Given the description of an element on the screen output the (x, y) to click on. 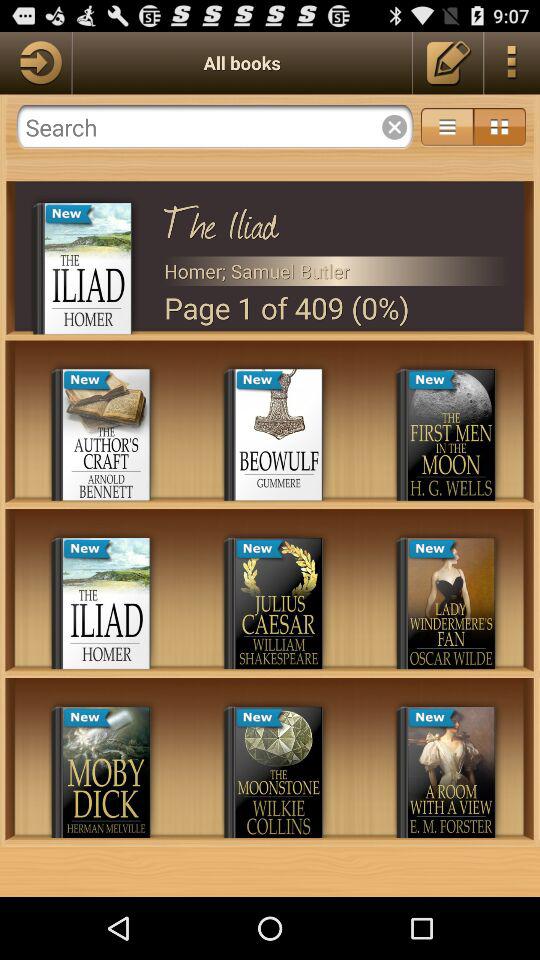
flip to the homer; samuel butler item (336, 270)
